Given the description of an element on the screen output the (x, y) to click on. 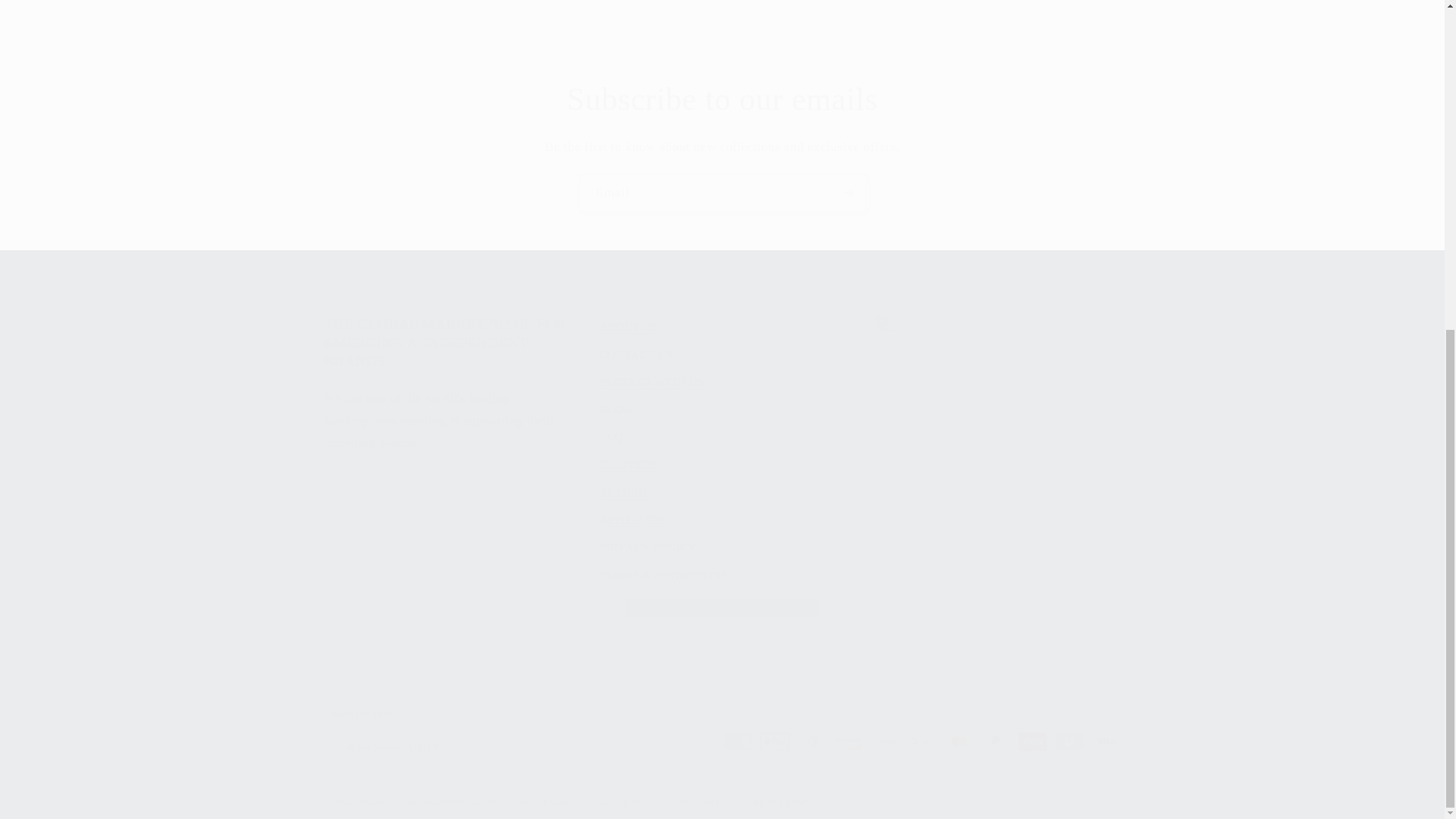
Email (722, 192)
ABOUT US (629, 329)
Subscribe to our emails (722, 99)
PARTNER WITH US (651, 382)
CONTACT US (635, 354)
